Given the description of an element on the screen output the (x, y) to click on. 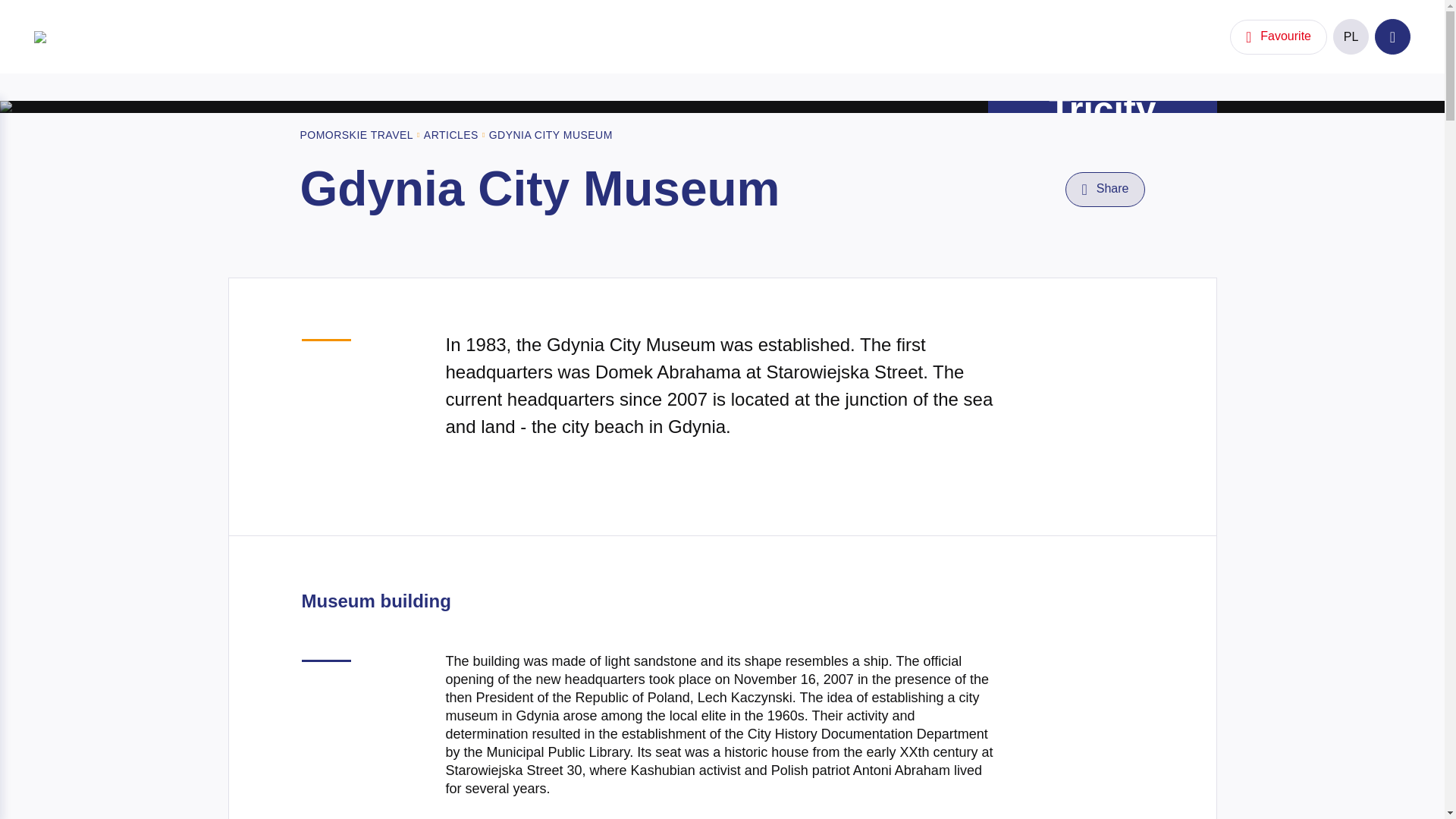
Favourite (1278, 36)
POMORSKIE TRAVEL (356, 134)
ARTICLES (451, 134)
PL (1350, 36)
Share (1104, 189)
